Given the description of an element on the screen output the (x, y) to click on. 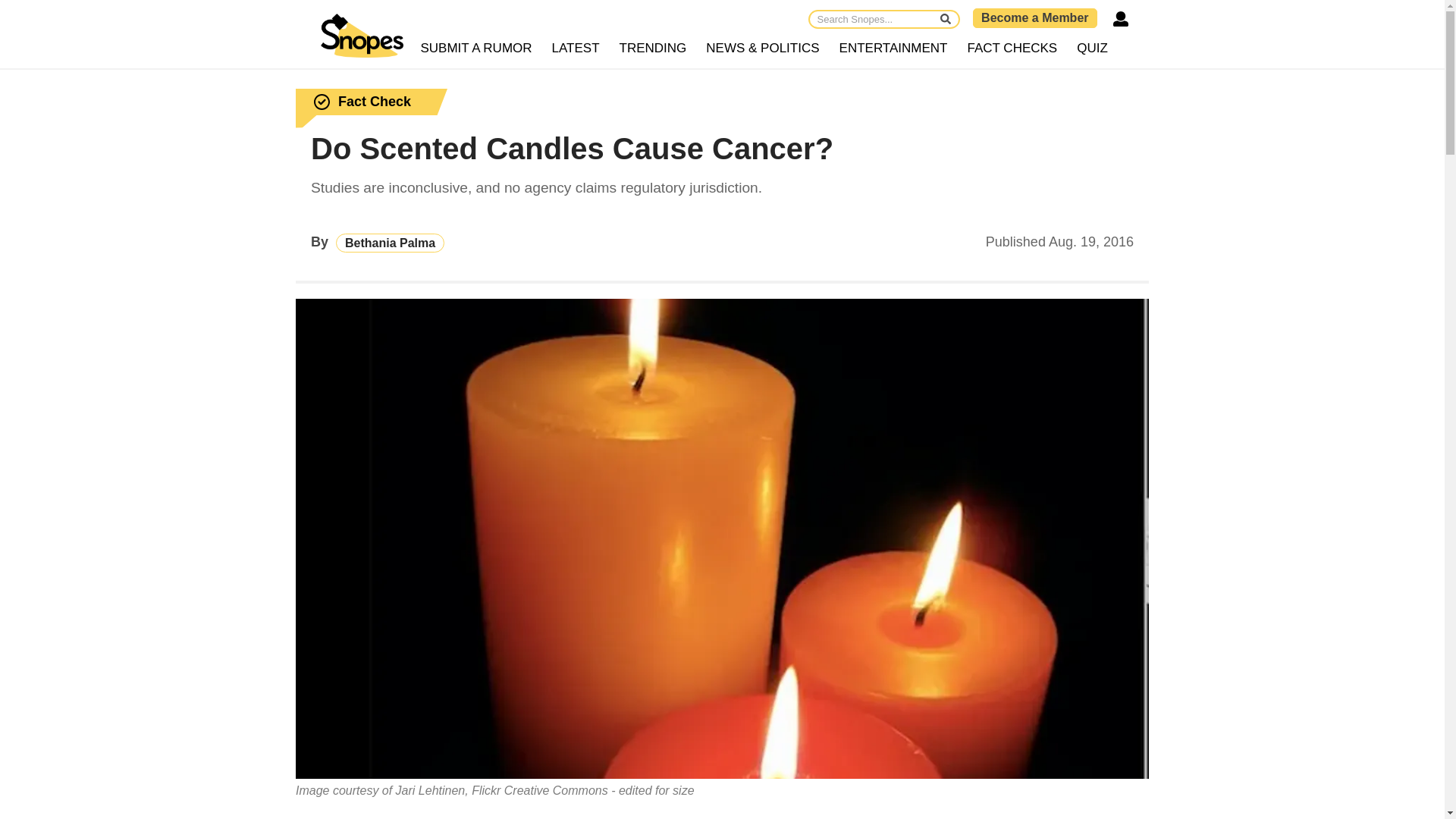
FACT CHECKS (1011, 47)
QUIZ (1092, 47)
LATEST (576, 47)
TRENDING (653, 47)
Bethania Palma (390, 242)
SUBMIT A RUMOR (475, 47)
ENTERTAINMENT (893, 47)
Become a Member (1034, 17)
